Given the description of an element on the screen output the (x, y) to click on. 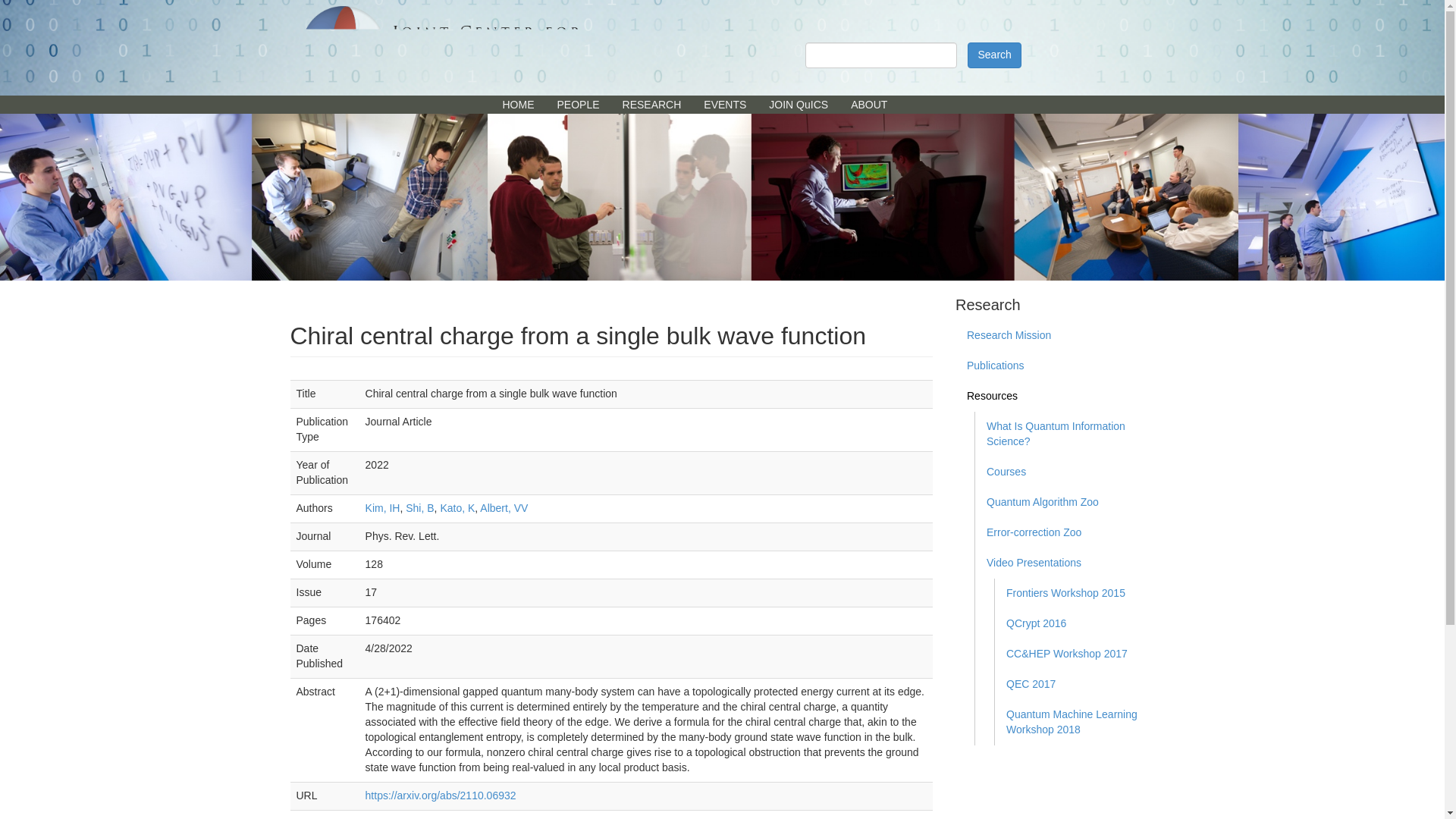
Search (994, 54)
Albert, VV (503, 508)
PEOPLE (578, 104)
Error-correction Zoo (1064, 532)
ABOUT (869, 104)
Research Mission (1054, 336)
Home (447, 47)
Kim, IH (382, 508)
What Is Quantum Information Science? (1064, 434)
